Given the description of an element on the screen output the (x, y) to click on. 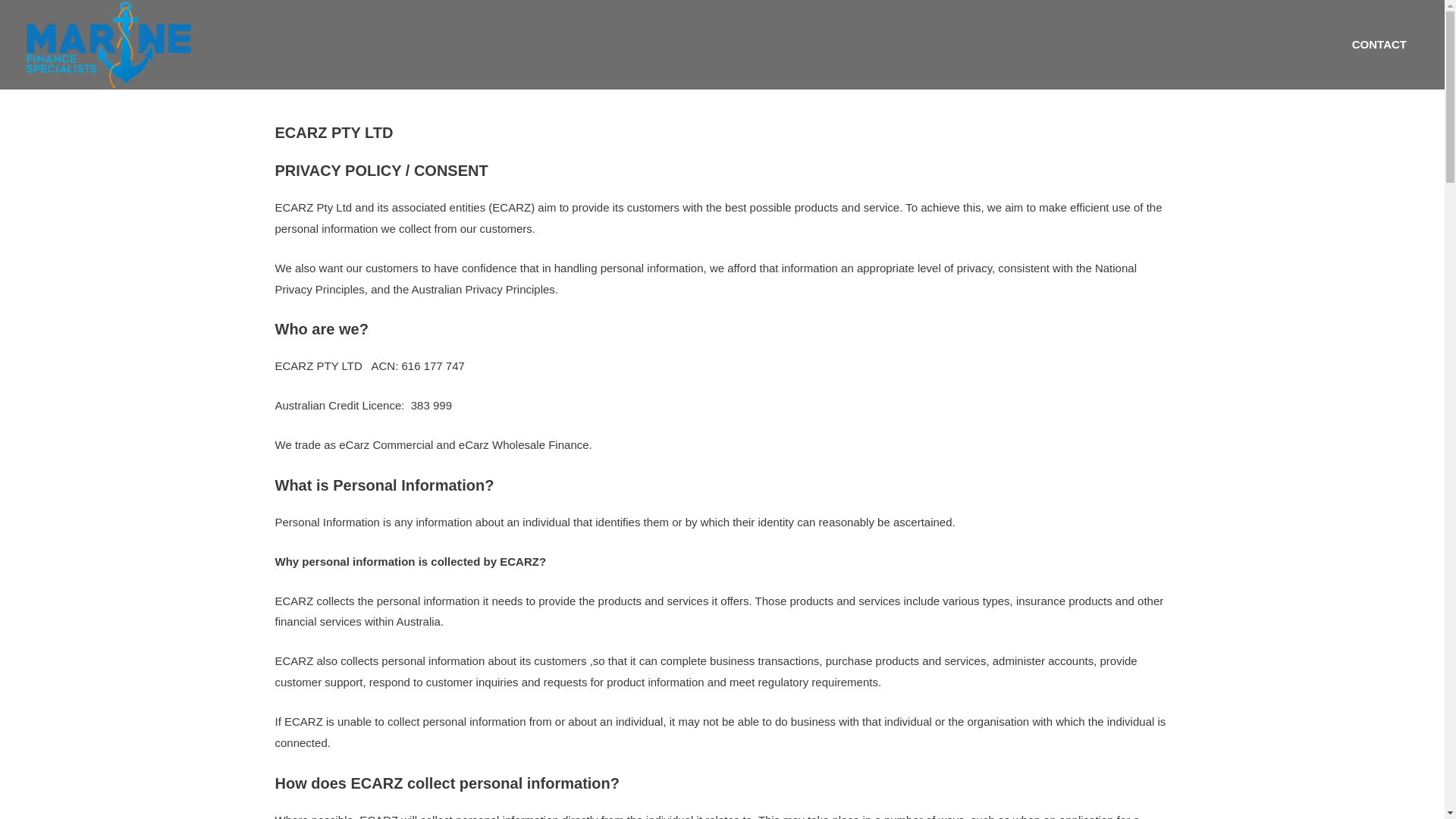
CONTACT Element type: text (1379, 44)
